Given the description of an element on the screen output the (x, y) to click on. 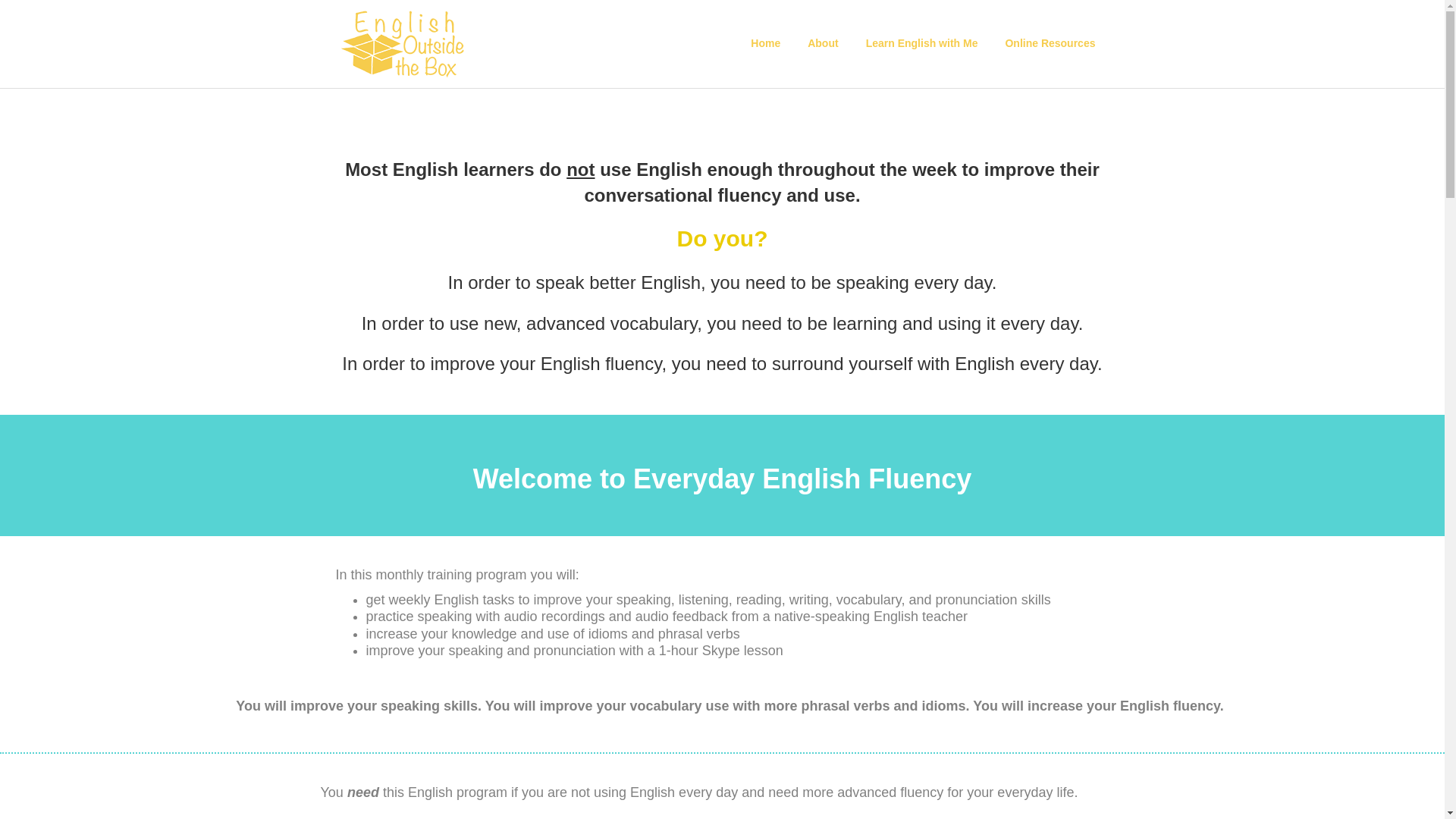
Learn English with Me (921, 44)
Home (764, 44)
Online Resources (1049, 44)
About (822, 44)
